Given the description of an element on the screen output the (x, y) to click on. 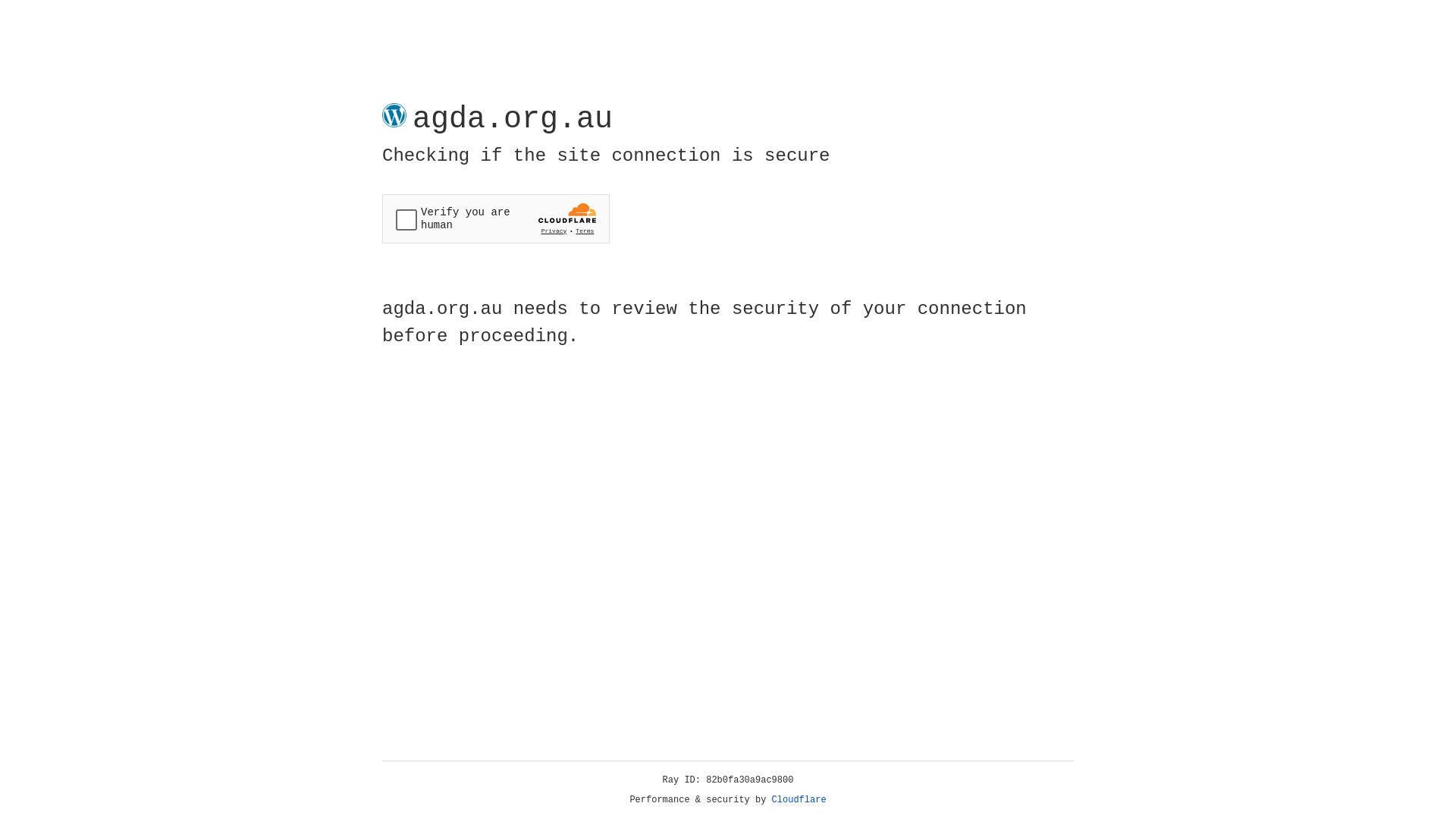
Cloudflare Element type: text (798, 799)
Widget containing a Cloudflare security challenge Element type: hover (495, 218)
